Given the description of an element on the screen output the (x, y) to click on. 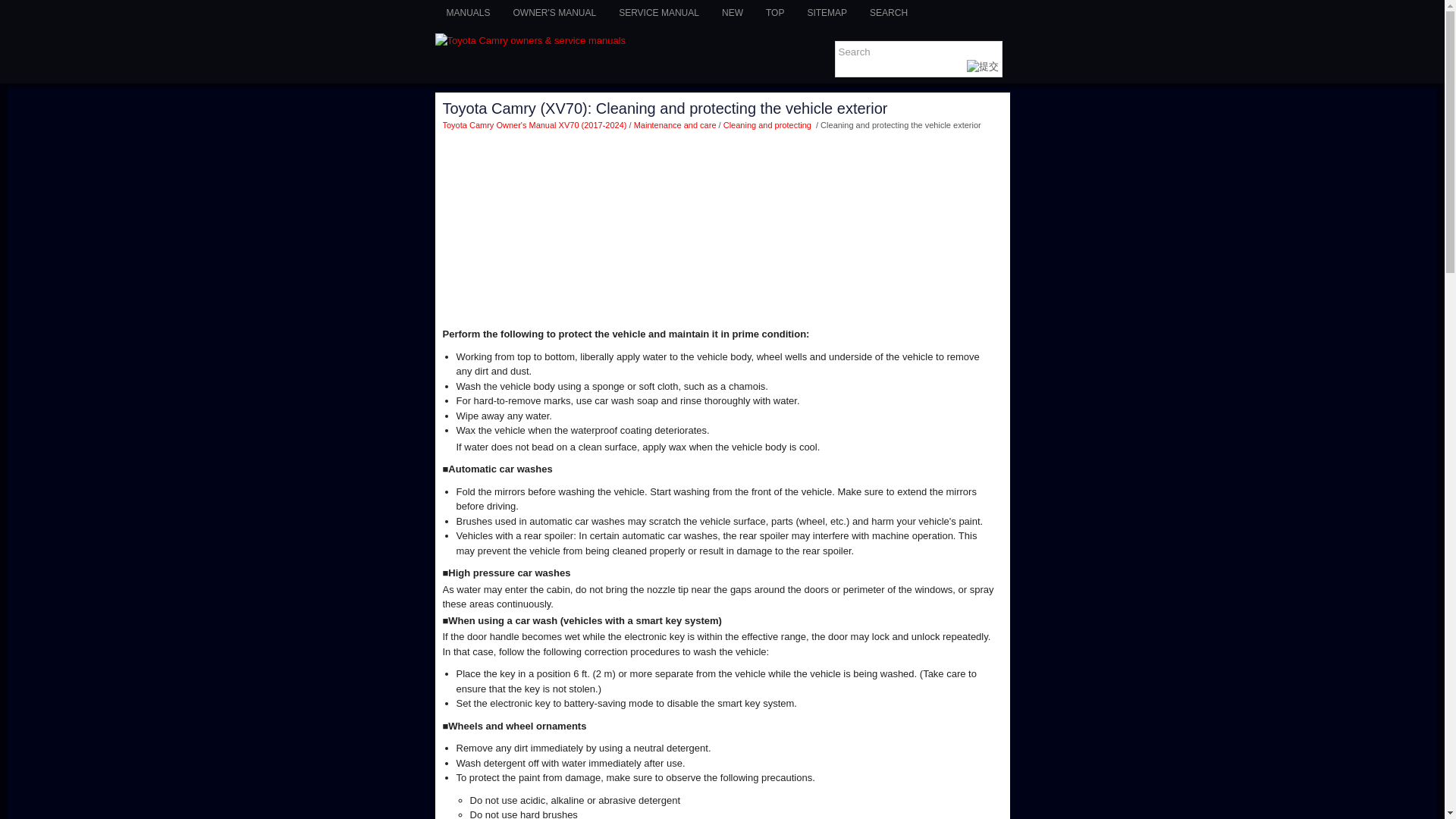
SITEMAP (826, 12)
Search (912, 51)
Cleaning and protecting  (768, 123)
MANUALS (468, 12)
Toyota Camry owners manual (555, 12)
SEARCH (888, 12)
OWNER'S MANUAL (555, 12)
TOP (774, 12)
NEW (732, 12)
Toyota Camry service manual (658, 12)
Type and hit enter (917, 58)
Maintenance and care (674, 123)
SERVICE MANUAL (658, 12)
